Given the description of an element on the screen output the (x, y) to click on. 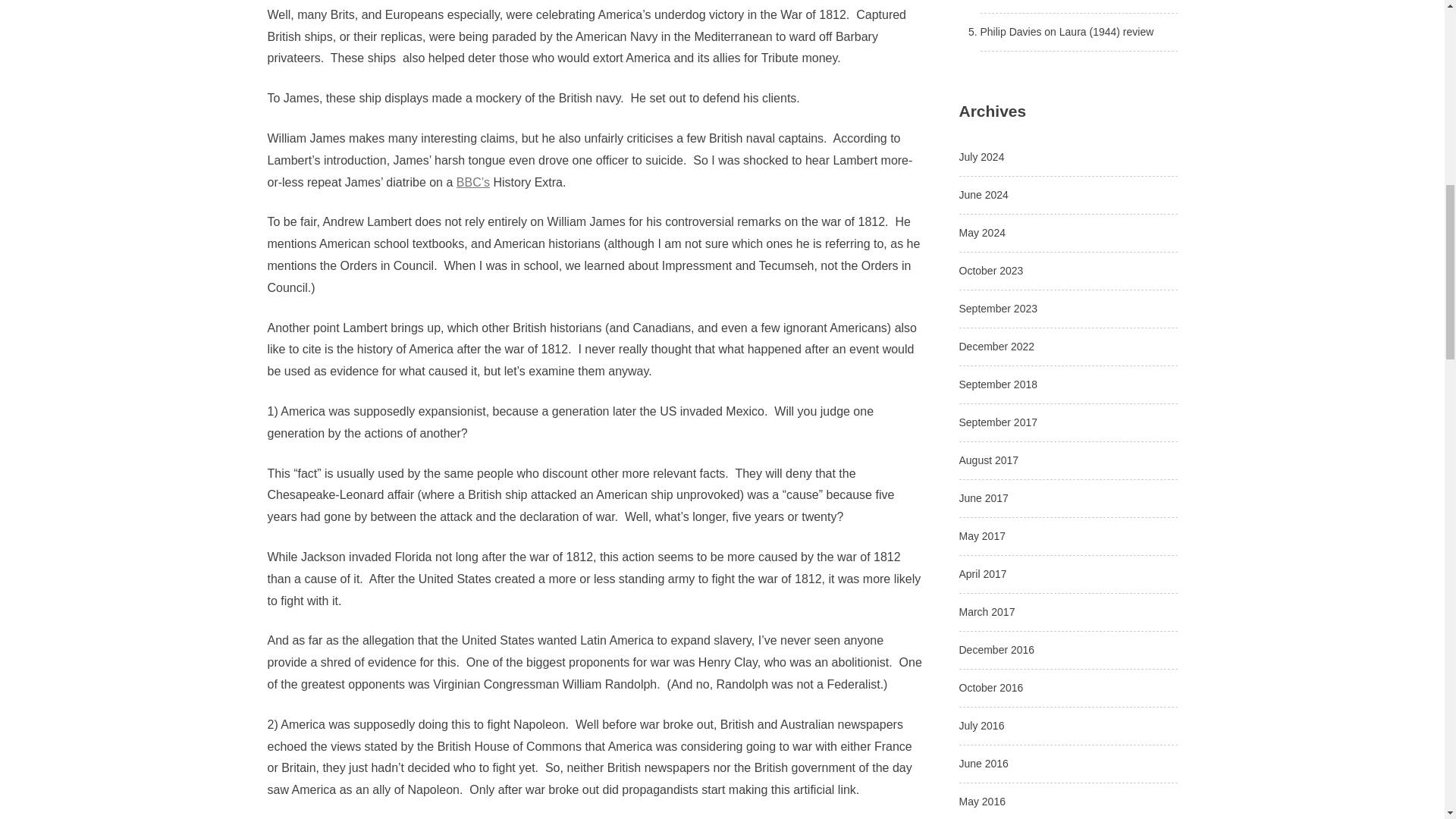
August 2017 (987, 460)
October 2023 (990, 270)
July 2024 (981, 156)
June 2024 (982, 194)
December 2022 (995, 346)
May 2017 (981, 535)
June 2017 (982, 498)
September 2017 (997, 422)
September 2018 (997, 384)
May 2024 (981, 232)
September 2023 (997, 308)
History Extra War of 1812 (473, 182)
April 2017 (982, 573)
